Given the description of an element on the screen output the (x, y) to click on. 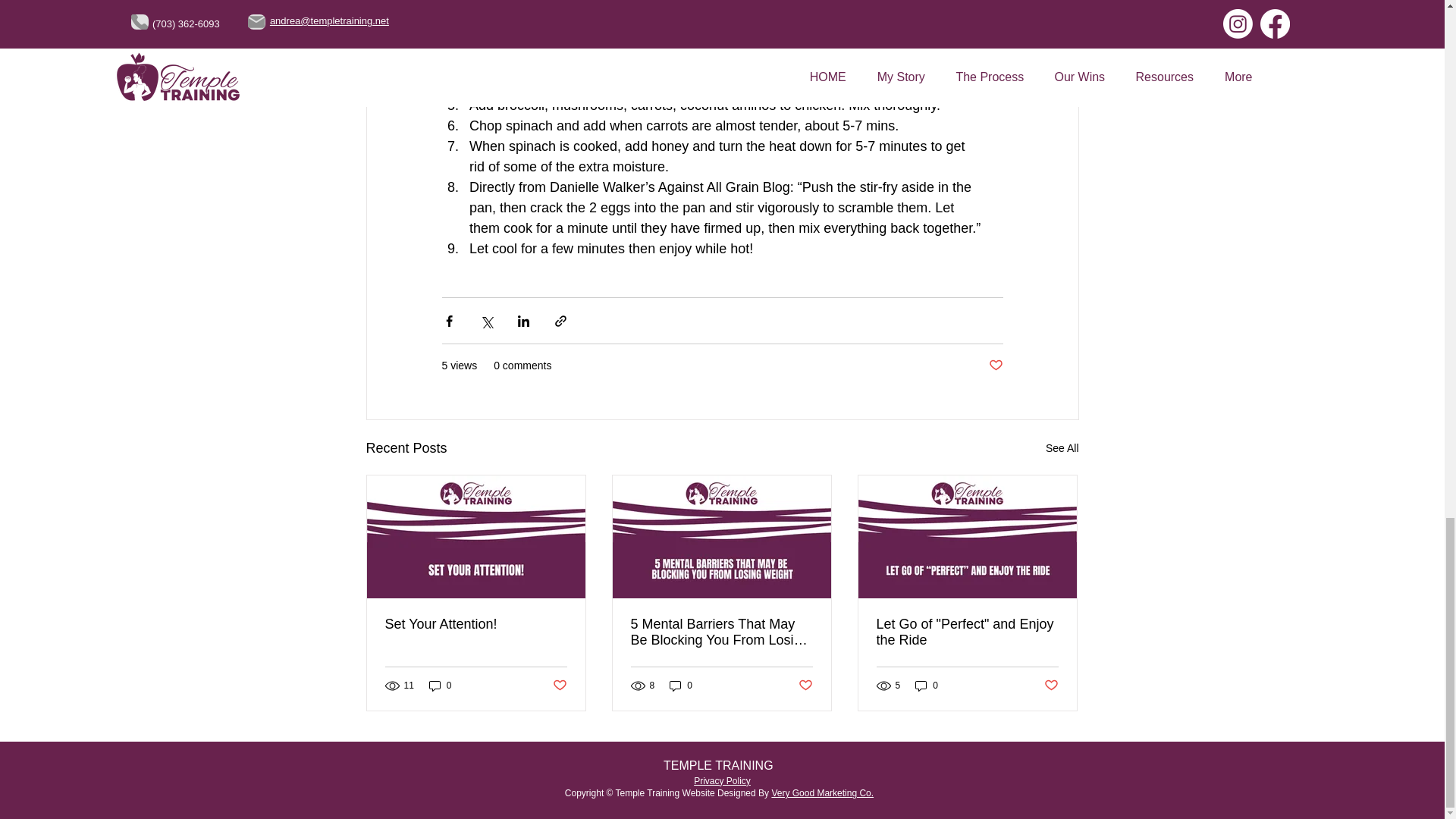
Privacy Policy (722, 780)
0 (440, 685)
Post not marked as liked (1050, 685)
Set Your Attention! (476, 624)
Very Good Marketing Co. (822, 792)
Post not marked as liked (558, 685)
0 (681, 685)
Post not marked as liked (995, 365)
0 (926, 685)
